Given the description of an element on the screen output the (x, y) to click on. 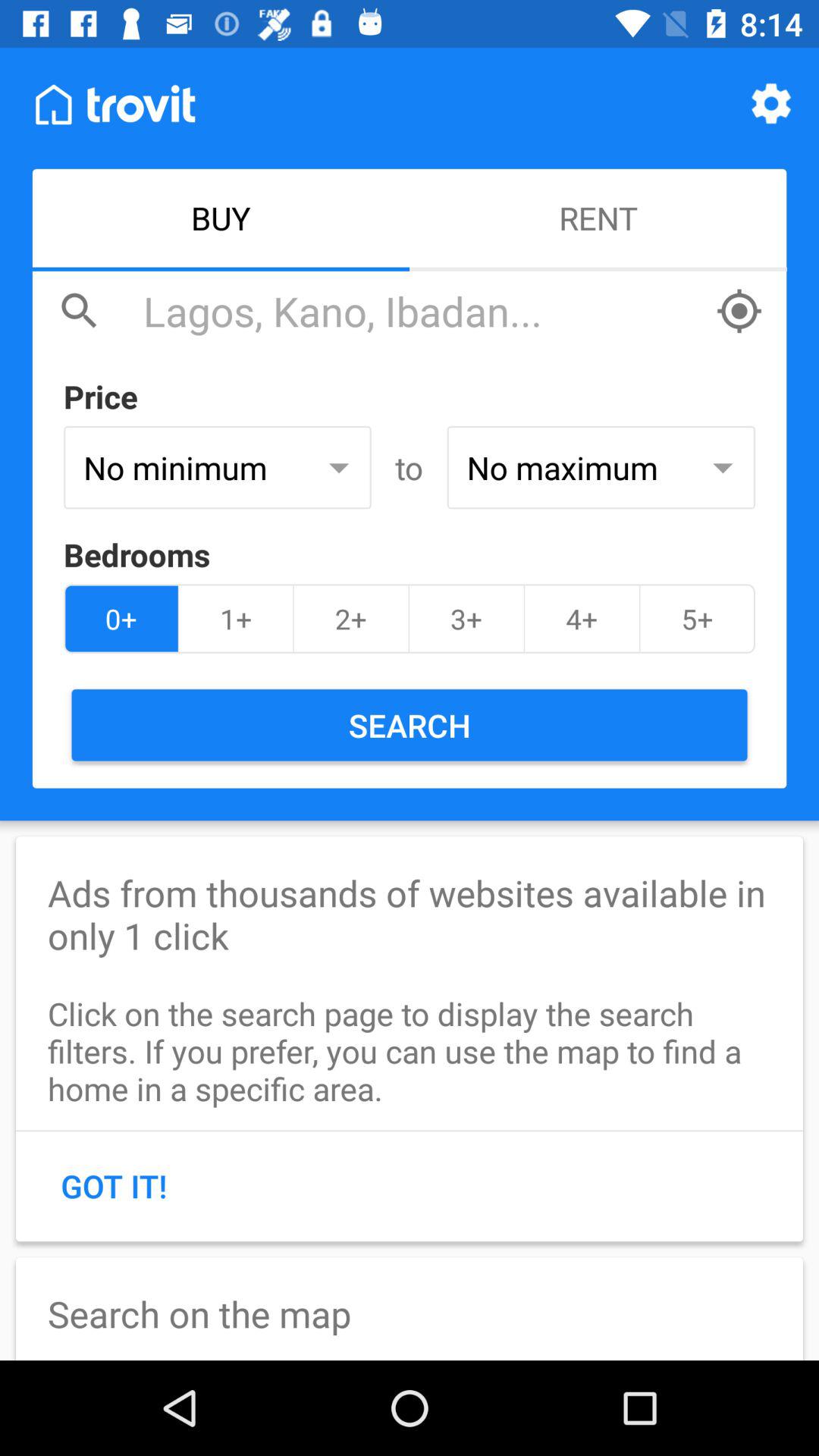
turn off icon to the right of 3+ (581, 618)
